Given the description of an element on the screen output the (x, y) to click on. 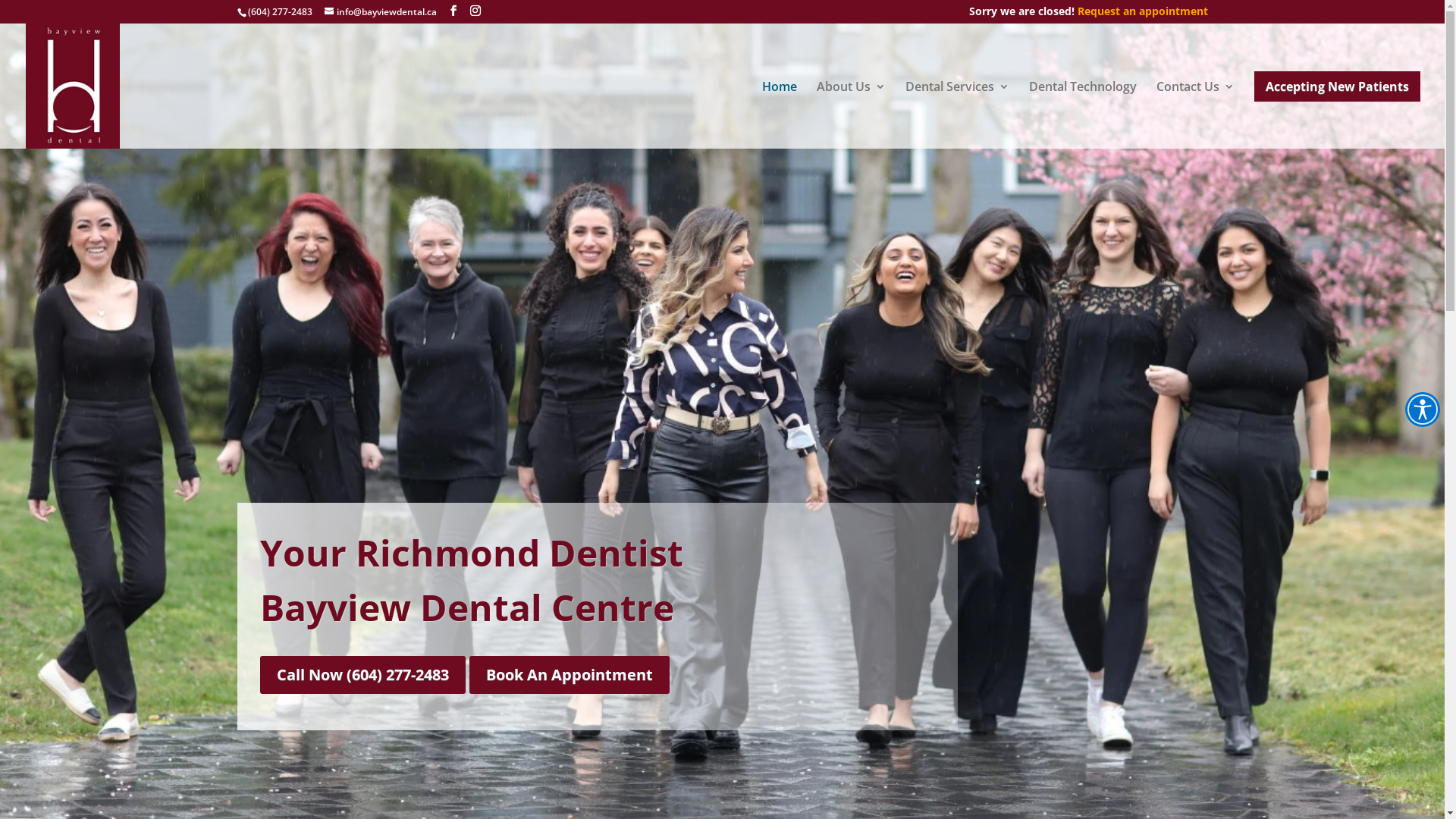
About Us Element type: text (850, 114)
Book An Appointment Element type: text (568, 674)
Contact Us Element type: text (1195, 114)
info@bayviewdental.ca Element type: text (380, 11)
Home Element type: text (779, 114)
(604) 277-2483 Element type: text (279, 11)
Call Now (604) 277-2483 Element type: text (361, 674)
Request an appointment Element type: text (1141, 10)
Dental Technology Element type: text (1082, 114)
Accepting New Patients Element type: text (1337, 86)
Dental Services Element type: text (957, 114)
